Given the description of an element on the screen output the (x, y) to click on. 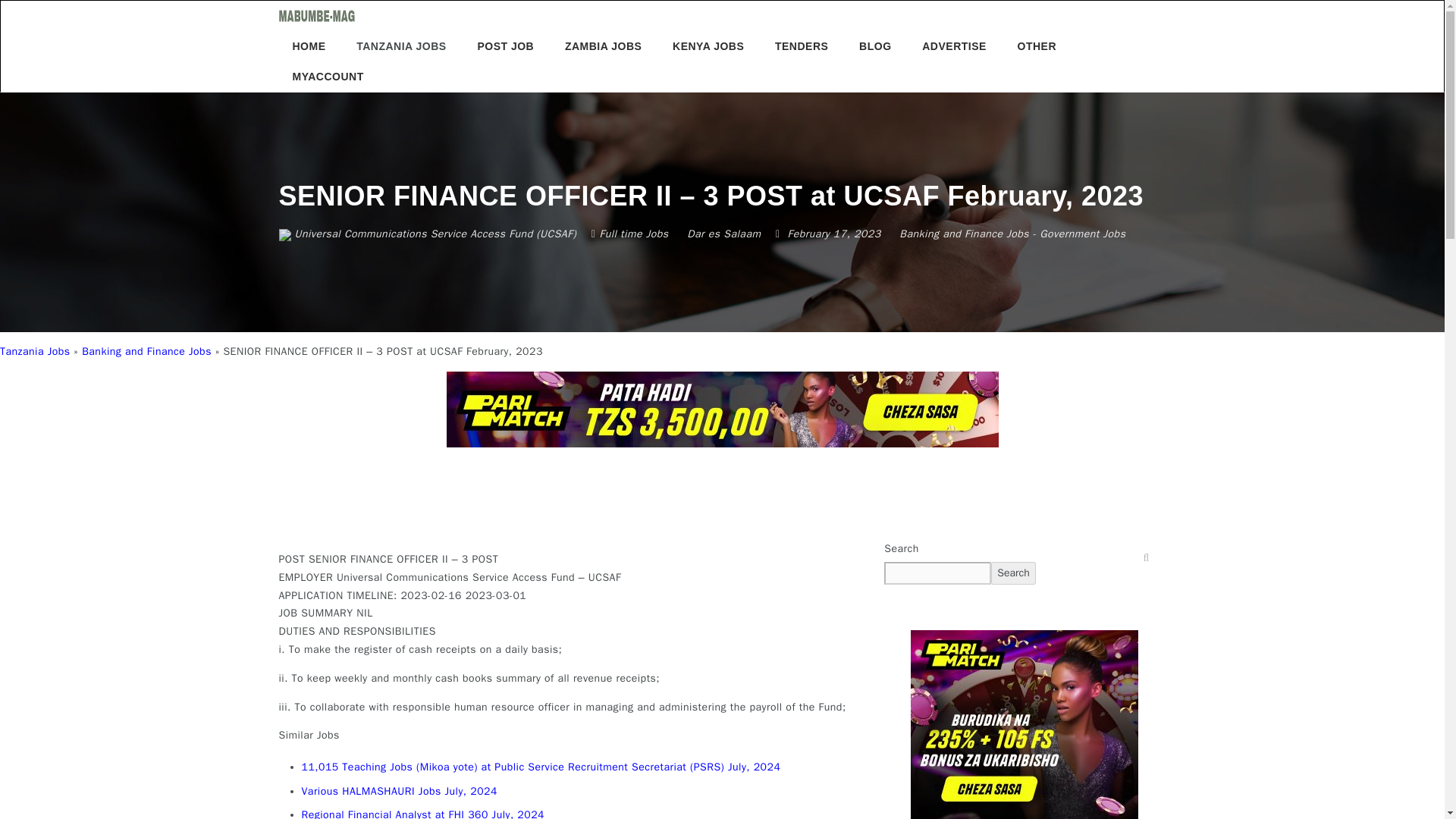
Banking and Finance Jobs (146, 350)
TANZANIA JOBS (401, 46)
KENYA JOBS (708, 46)
Dar es Salaam (723, 233)
MYACCOUNT (330, 76)
Government Jobs (1082, 233)
TENDERS (801, 46)
Various HALMASHAURI Jobs July, 2024 (399, 790)
OTHER (1039, 46)
POST JOB (505, 46)
